Given the description of an element on the screen output the (x, y) to click on. 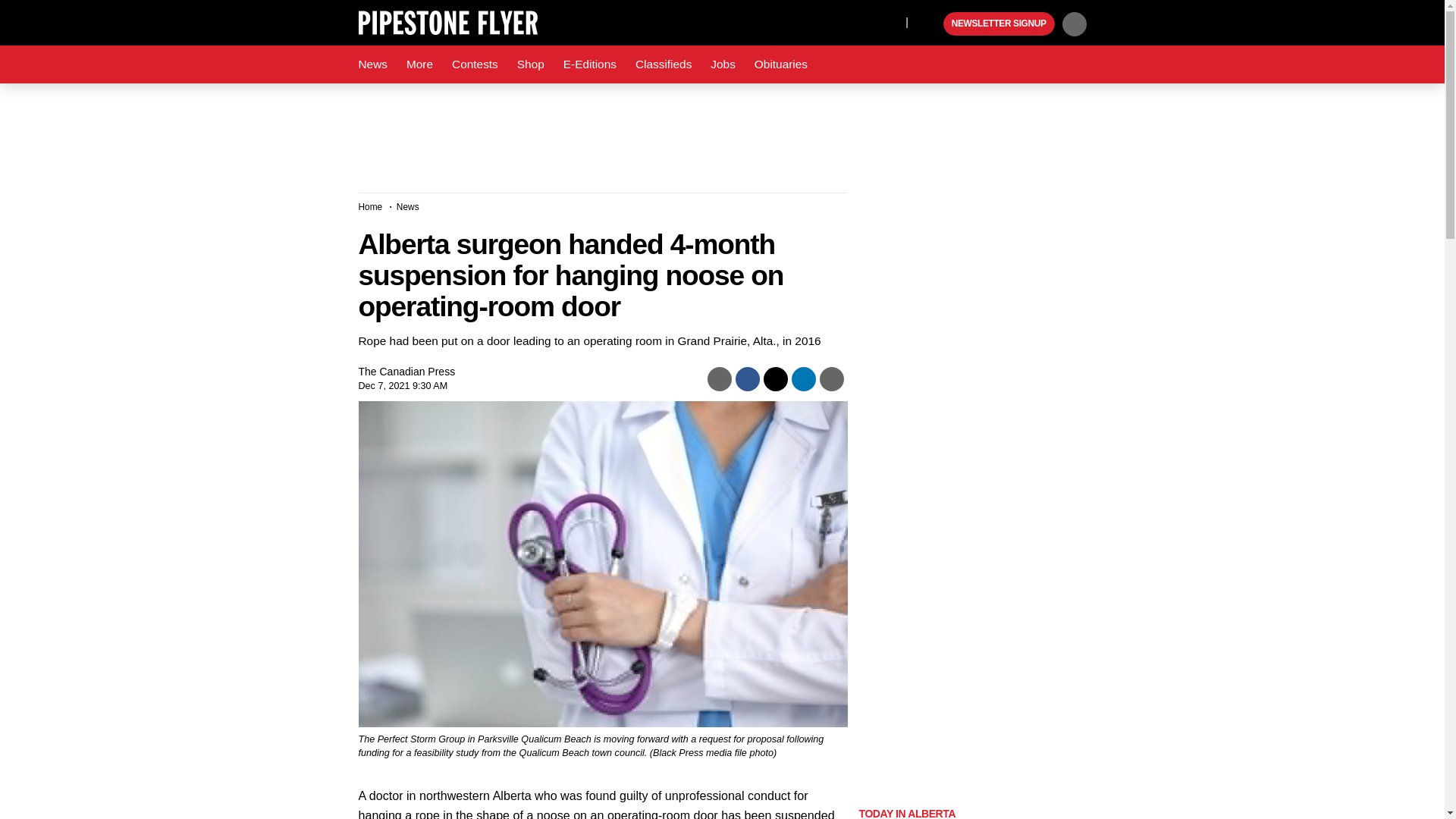
Black Press Media (929, 24)
NEWSLETTER SIGNUP (998, 24)
X (889, 21)
Play (929, 24)
News (372, 64)
